Given the description of an element on the screen output the (x, y) to click on. 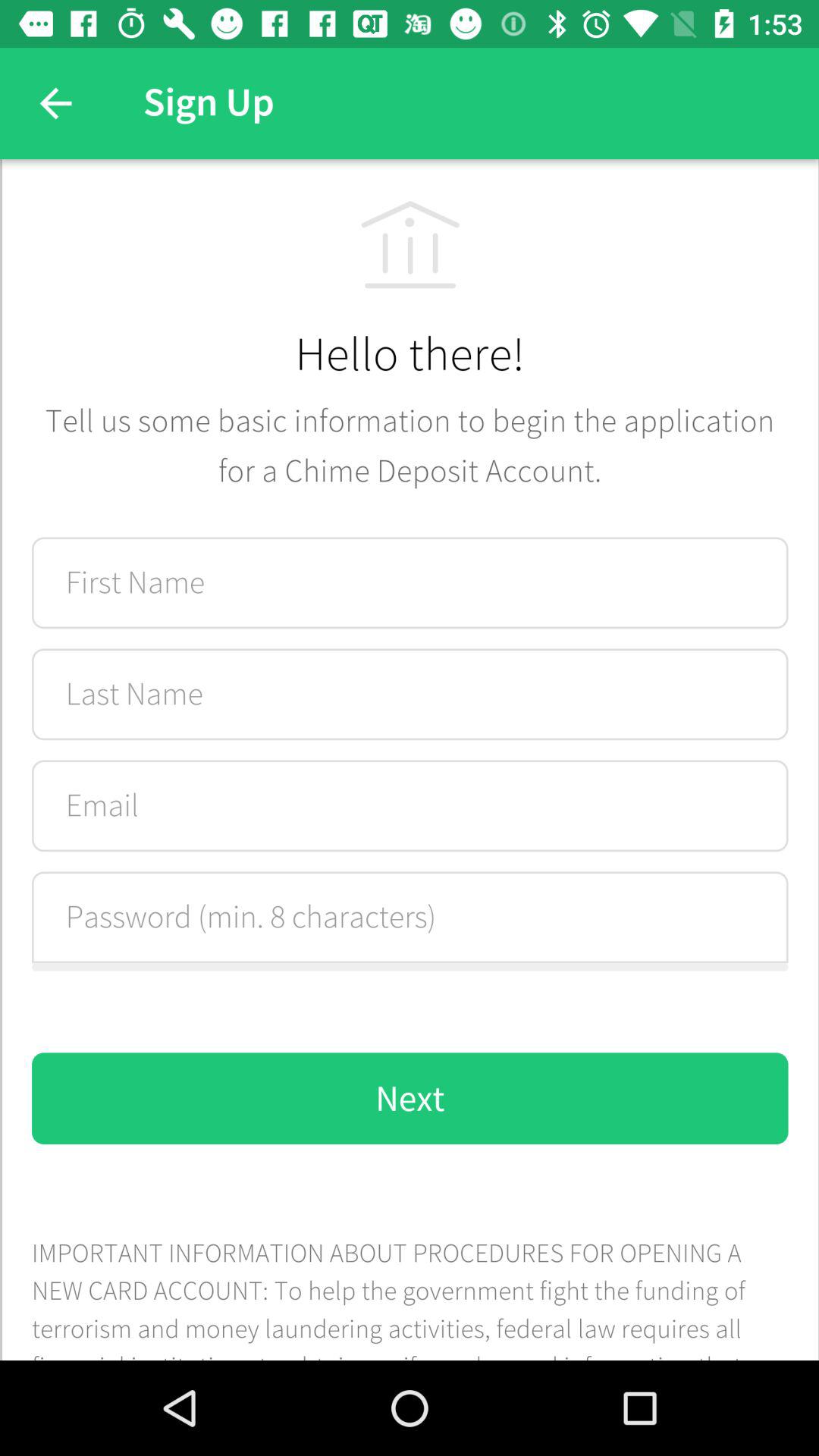
fill the form (409, 759)
